Given the description of an element on the screen output the (x, y) to click on. 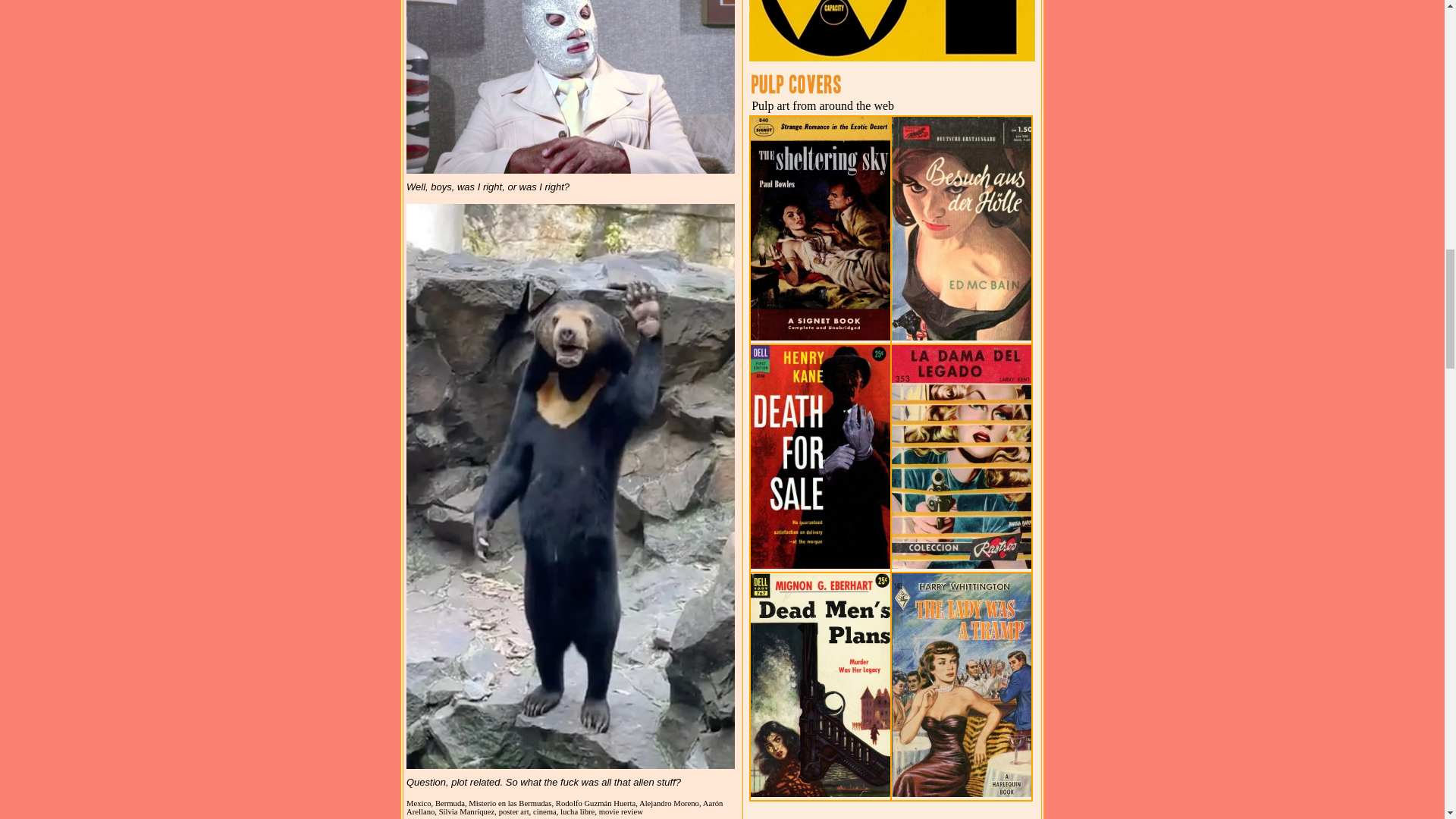
poster art (515, 811)
cinema (546, 811)
Mexico (420, 803)
Misterio en las Bermudas (512, 803)
lucha libre (579, 811)
Alejandro Moreno (671, 803)
Bermuda (451, 803)
movie review (620, 811)
